Given the description of an element on the screen output the (x, y) to click on. 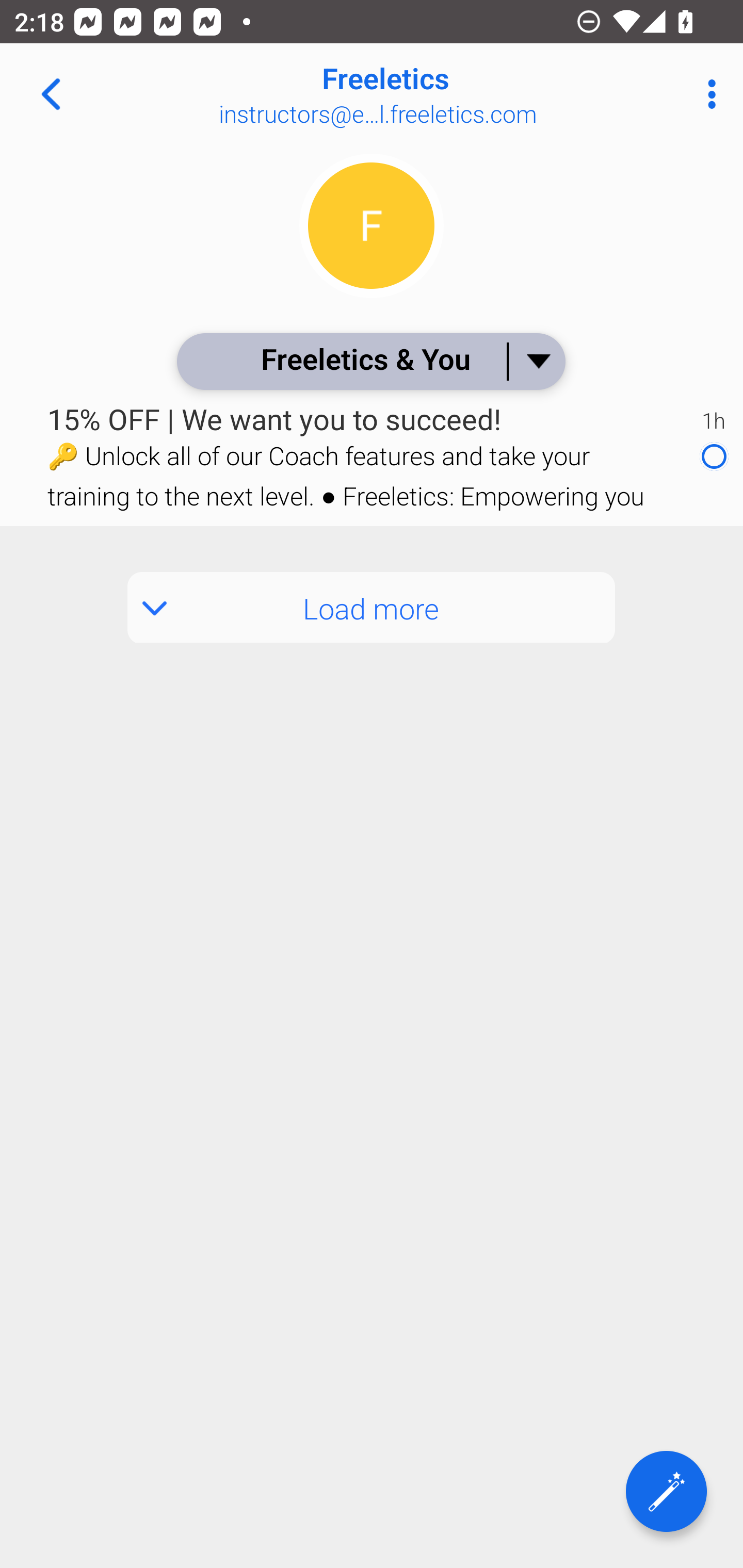
Navigate up (50, 93)
Freeletics instructors@email.freeletics.com (436, 93)
More Options (706, 93)
Freeletics & You (370, 361)
Load more (371, 607)
